Given the description of an element on the screen output the (x, y) to click on. 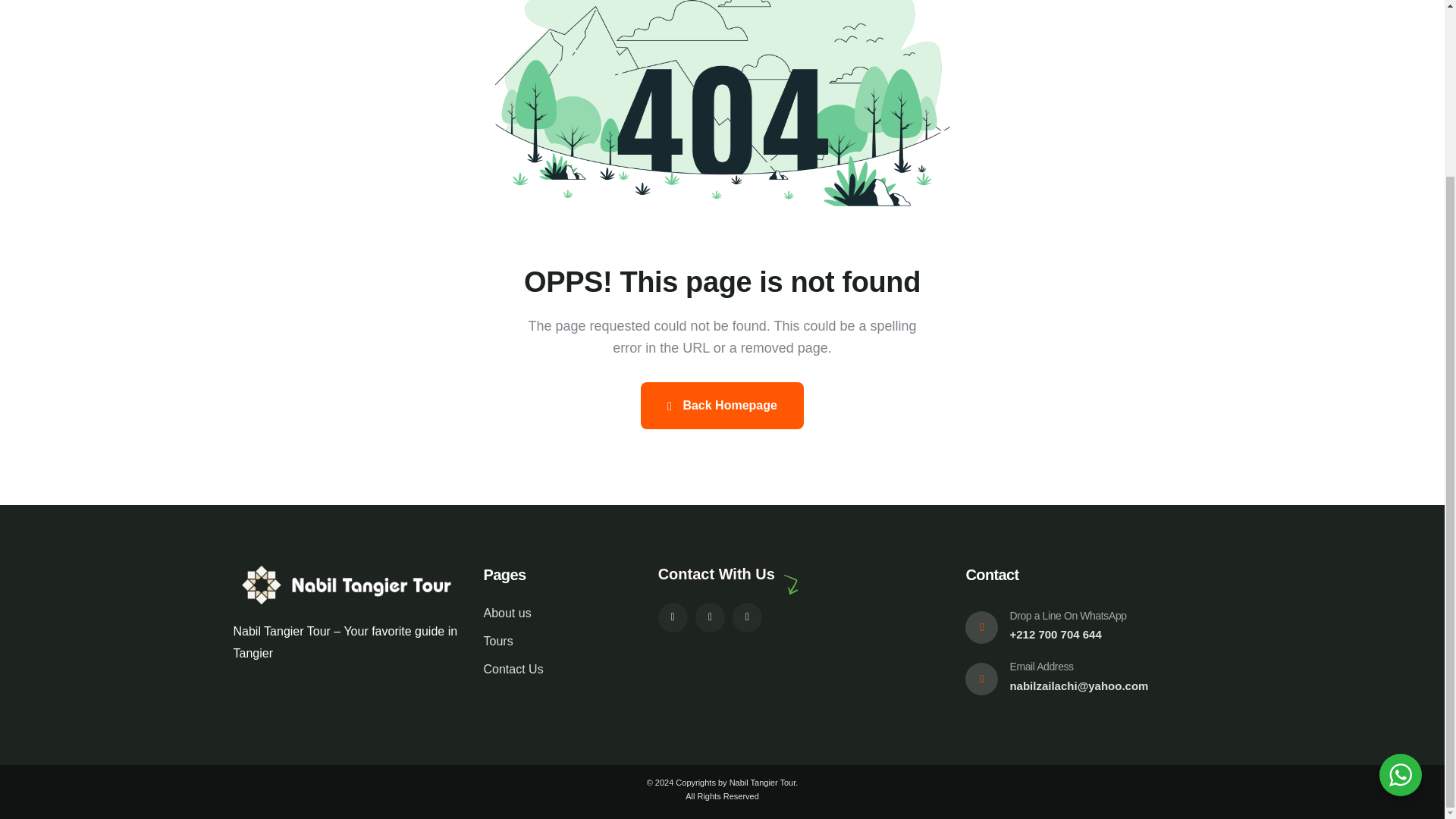
Drop a Line On WhatsApp (1067, 615)
Email Address (1041, 666)
About us (551, 613)
Tours (551, 641)
Contact Us (551, 669)
Back Homepage (721, 405)
Home (346, 584)
